Given the description of an element on the screen output the (x, y) to click on. 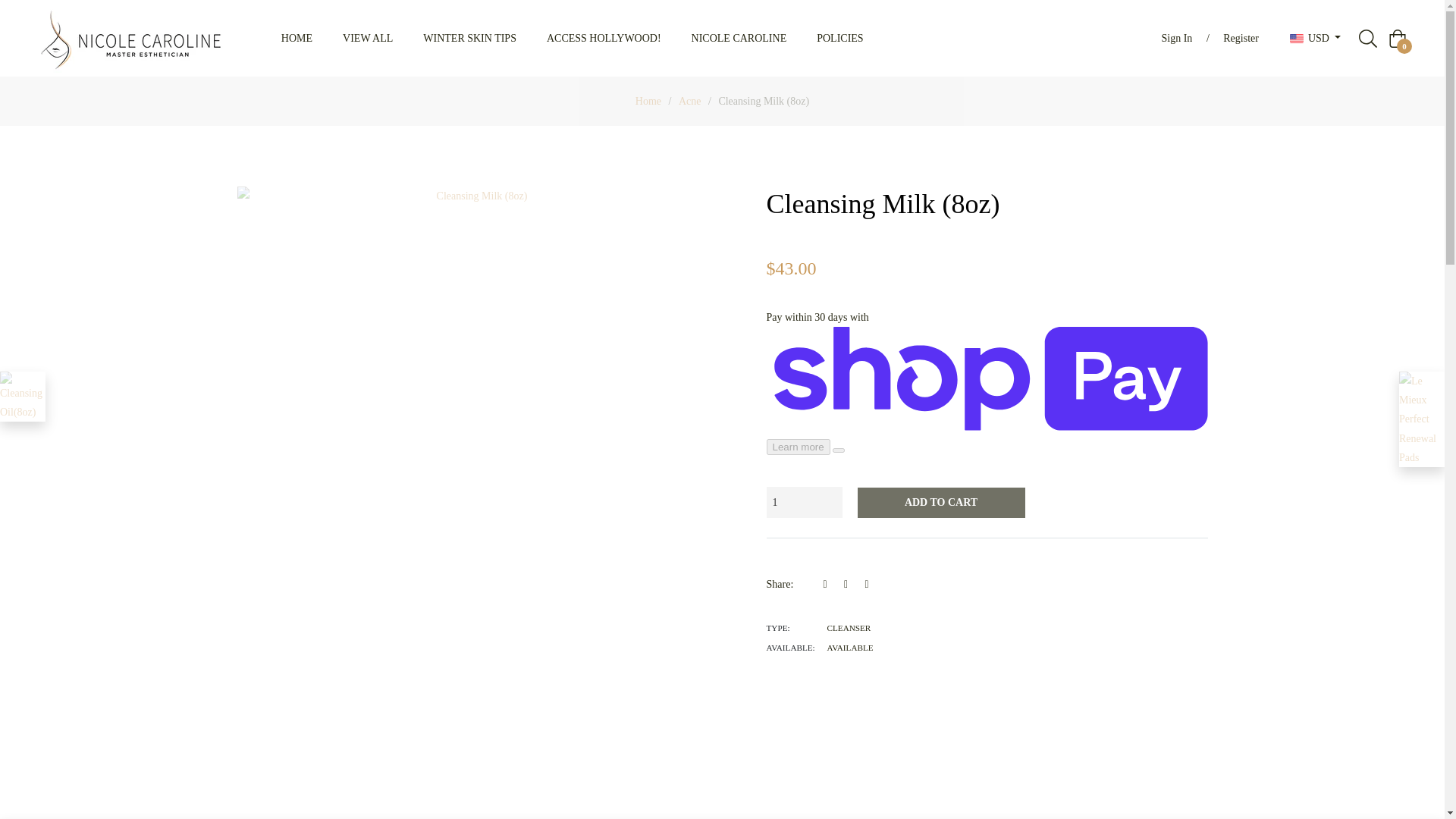
Register (1240, 38)
VIEW ALL (367, 38)
Pin on Pinterest (869, 583)
Share on Facebook (830, 583)
Sign In (1177, 38)
1 (803, 501)
Shopping Cart (1397, 38)
Tweet on Twitter (850, 583)
WINTER SKIN TIPS (469, 38)
HOME (296, 38)
Home (648, 101)
Home (648, 101)
Share on Facebook (830, 583)
NICOLE CAROLINE (739, 38)
ACCESS HOLLYWOOD! (604, 38)
